Given the description of an element on the screen output the (x, y) to click on. 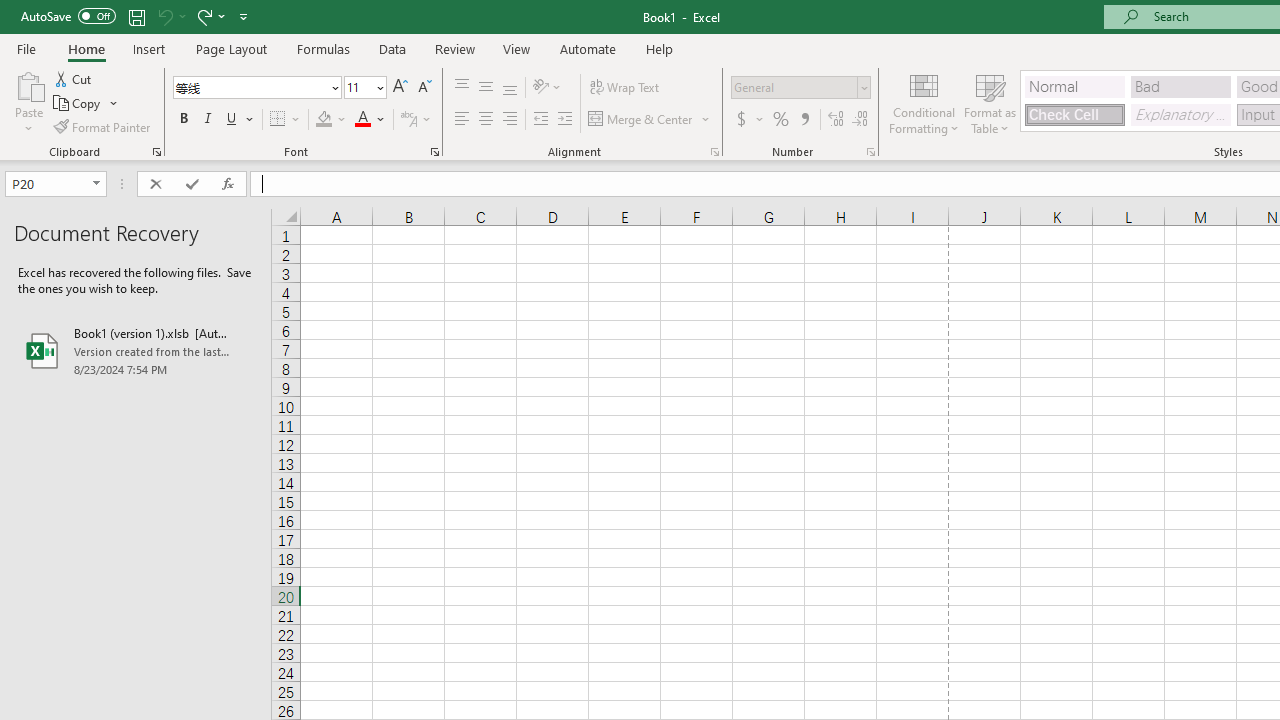
Top Align (461, 87)
Format Cell Font (434, 151)
Increase Font Size (399, 87)
Copy (78, 103)
Fill Color (331, 119)
